Given the description of an element on the screen output the (x, y) to click on. 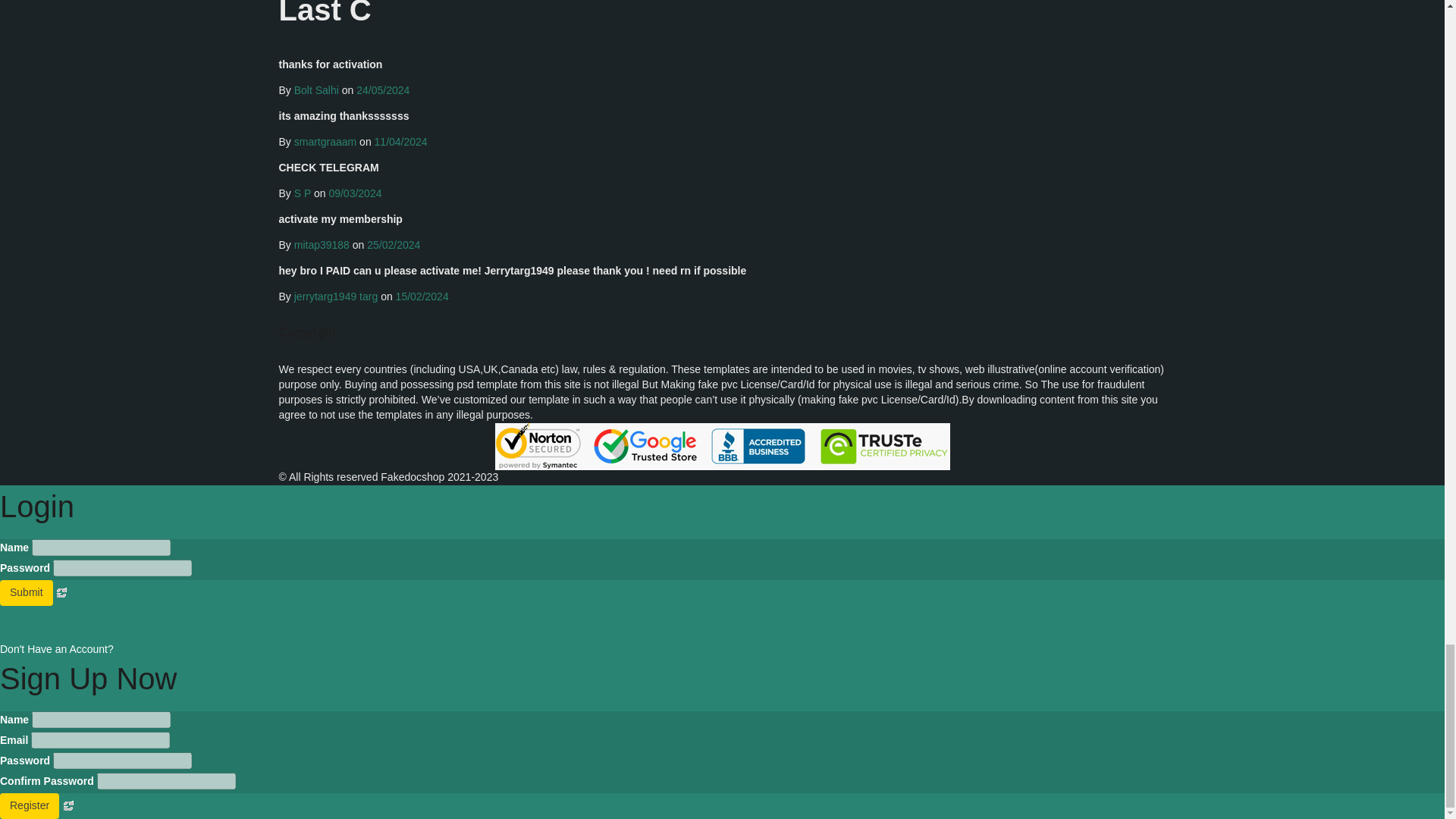
Submit  (26, 592)
